Given the description of an element on the screen output the (x, y) to click on. 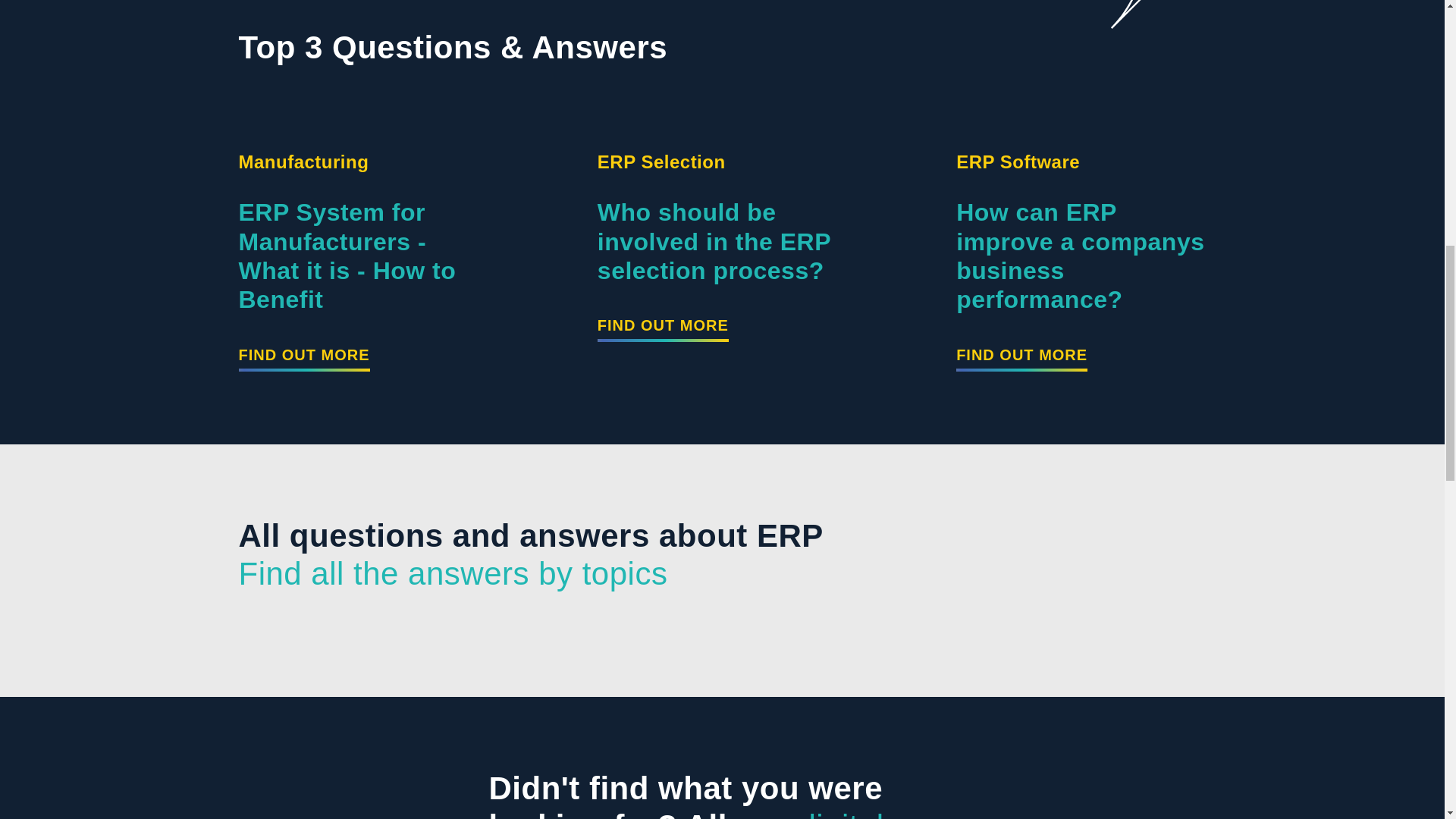
FIND OUT MORE (303, 357)
FIND OUT MORE (662, 328)
FIND OUT MORE (1021, 357)
